Given the description of an element on the screen output the (x, y) to click on. 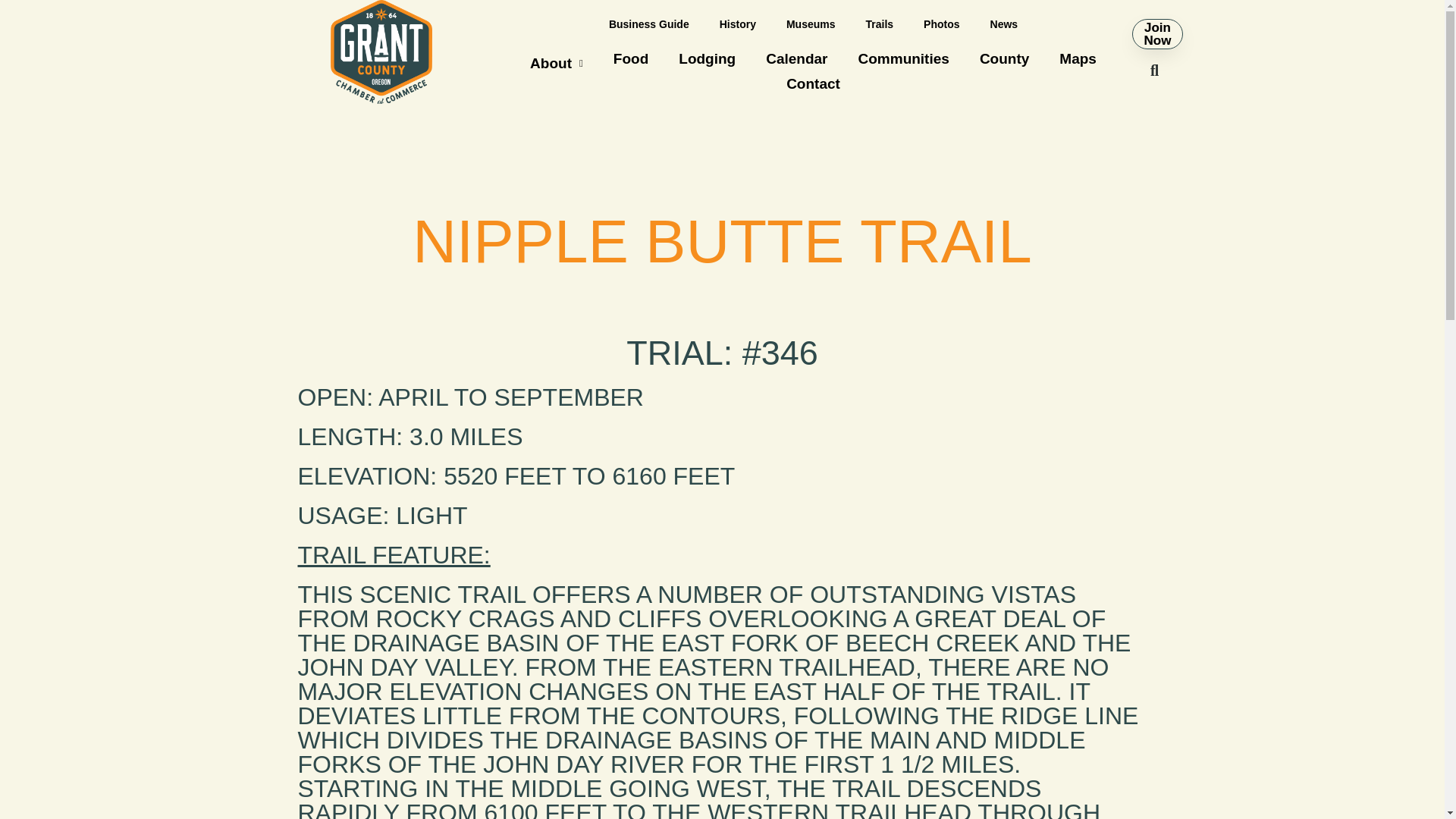
Lodging (707, 58)
Join Now (1156, 33)
News (1004, 24)
County (1003, 58)
Communities (903, 58)
History (737, 24)
Food (630, 58)
Calendar (797, 58)
Trails (879, 24)
Contact (813, 83)
About (556, 63)
Photos (941, 24)
Maps (1077, 58)
Museums (810, 24)
Business Guide (649, 24)
